Given the description of an element on the screen output the (x, y) to click on. 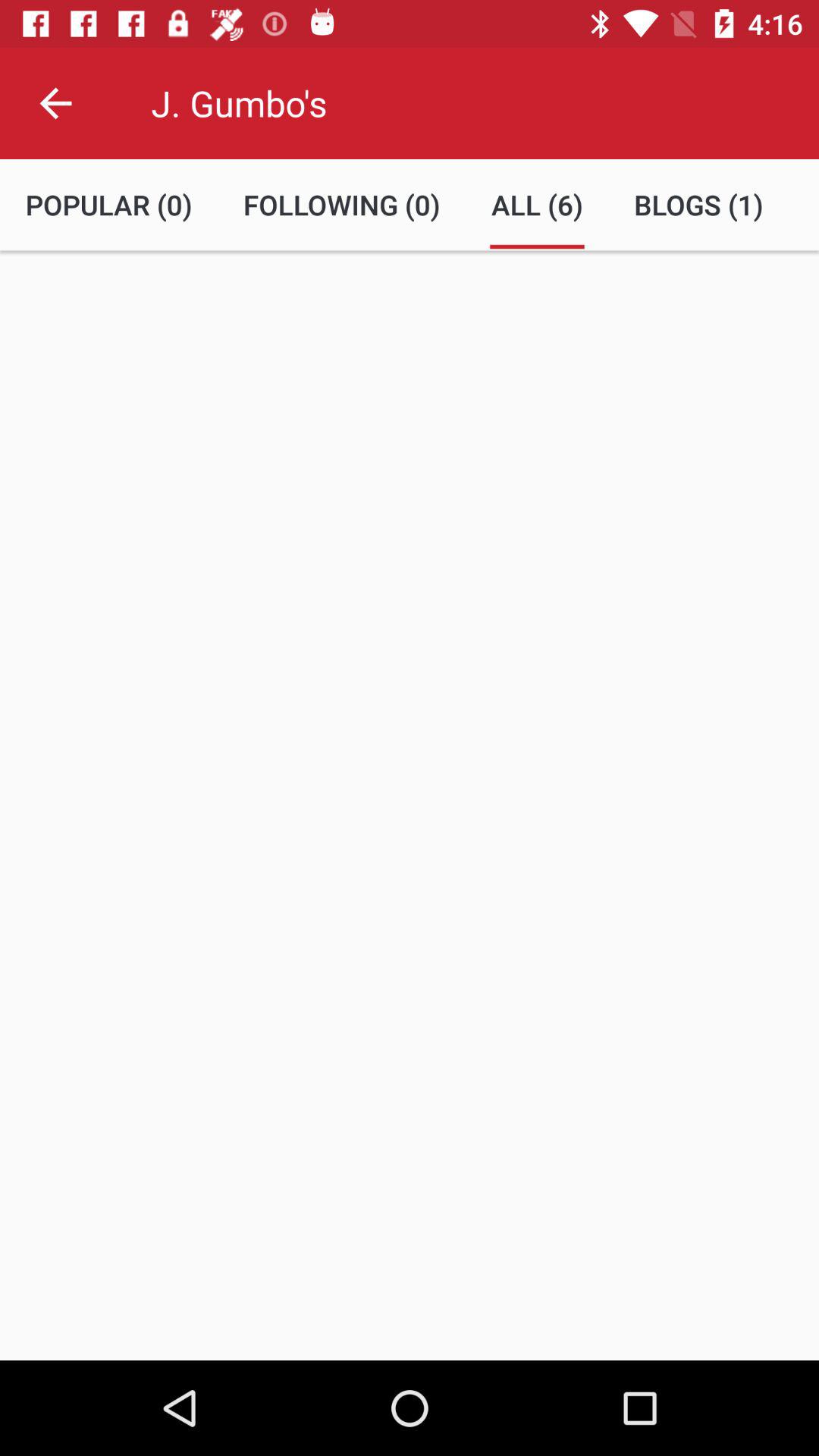
select blogs (1) (698, 204)
